Given the description of an element on the screen output the (x, y) to click on. 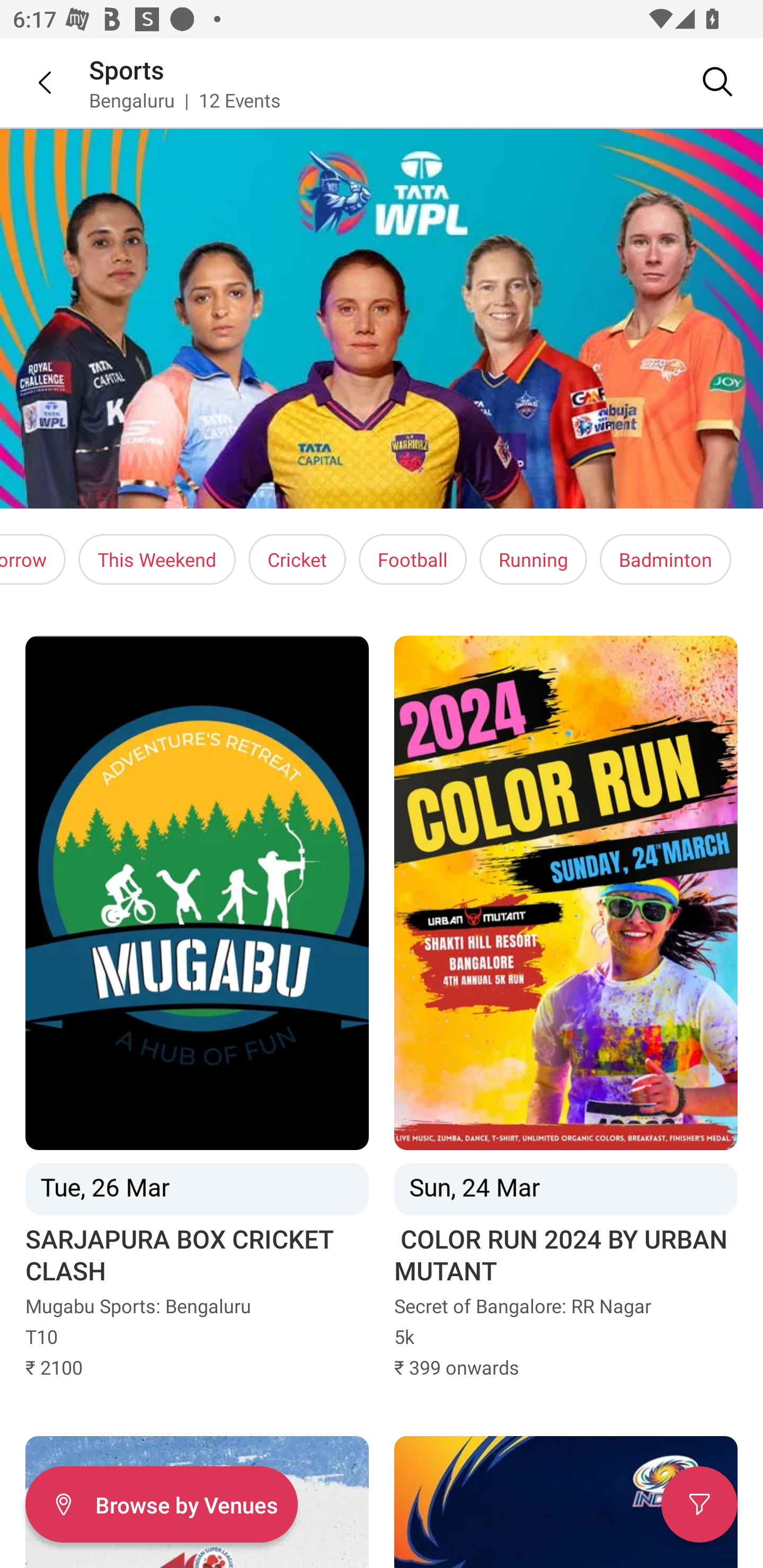
Back (31, 82)
Sports (126, 68)
Bengaluru  |  12 Events (185, 99)
This Weekend (156, 559)
Cricket (296, 559)
Football (412, 559)
Running (532, 559)
Badminton (664, 559)
Filter Browse by Venues (161, 1504)
Filter (699, 1504)
